Given the description of an element on the screen output the (x, y) to click on. 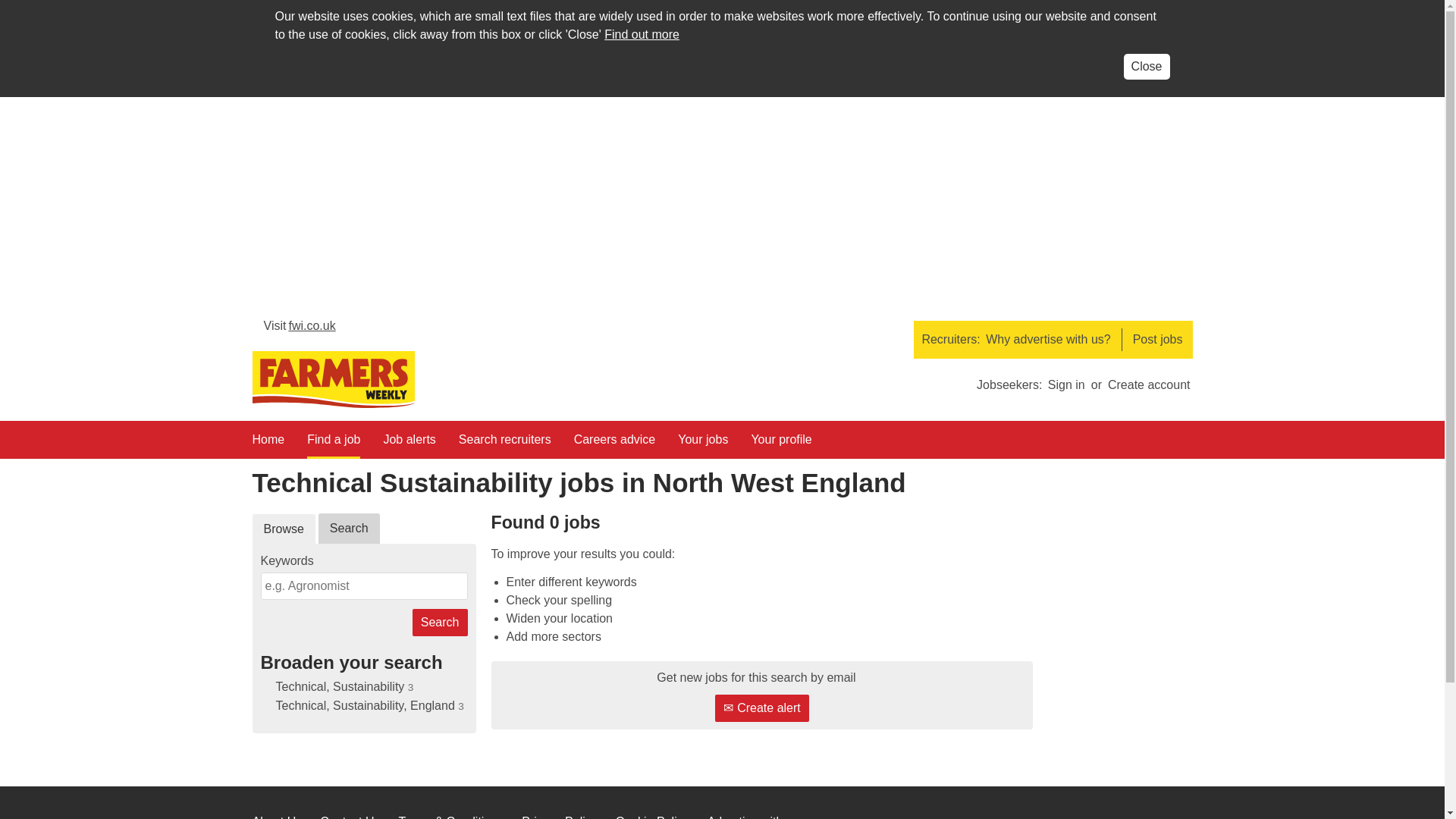
Technical, Sustainability, England (365, 705)
Your jobs (703, 444)
Search (439, 622)
Browse (282, 529)
Careers advice (614, 444)
Search (439, 622)
Find a job (333, 444)
Sign in (1066, 384)
Cookie Policy (651, 816)
Technical, Sustainability (340, 686)
About Us (276, 816)
Advertise with us (753, 816)
fwi.co.uk (299, 329)
Job alerts (408, 444)
Why advertise with us? (1048, 339)
